Given the description of an element on the screen output the (x, y) to click on. 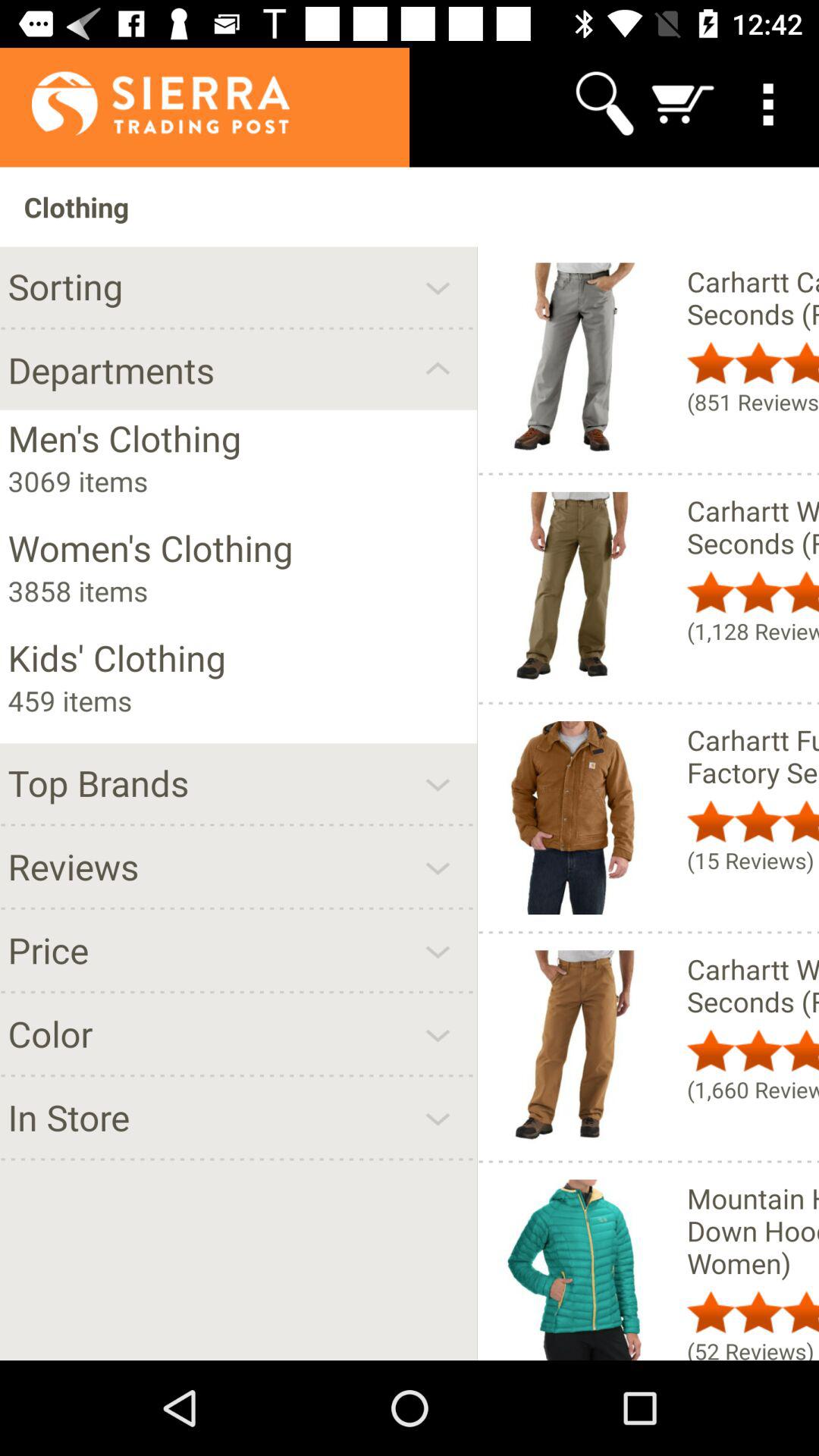
tap mountain hardwear ghost (753, 1230)
